Given the description of an element on the screen output the (x, y) to click on. 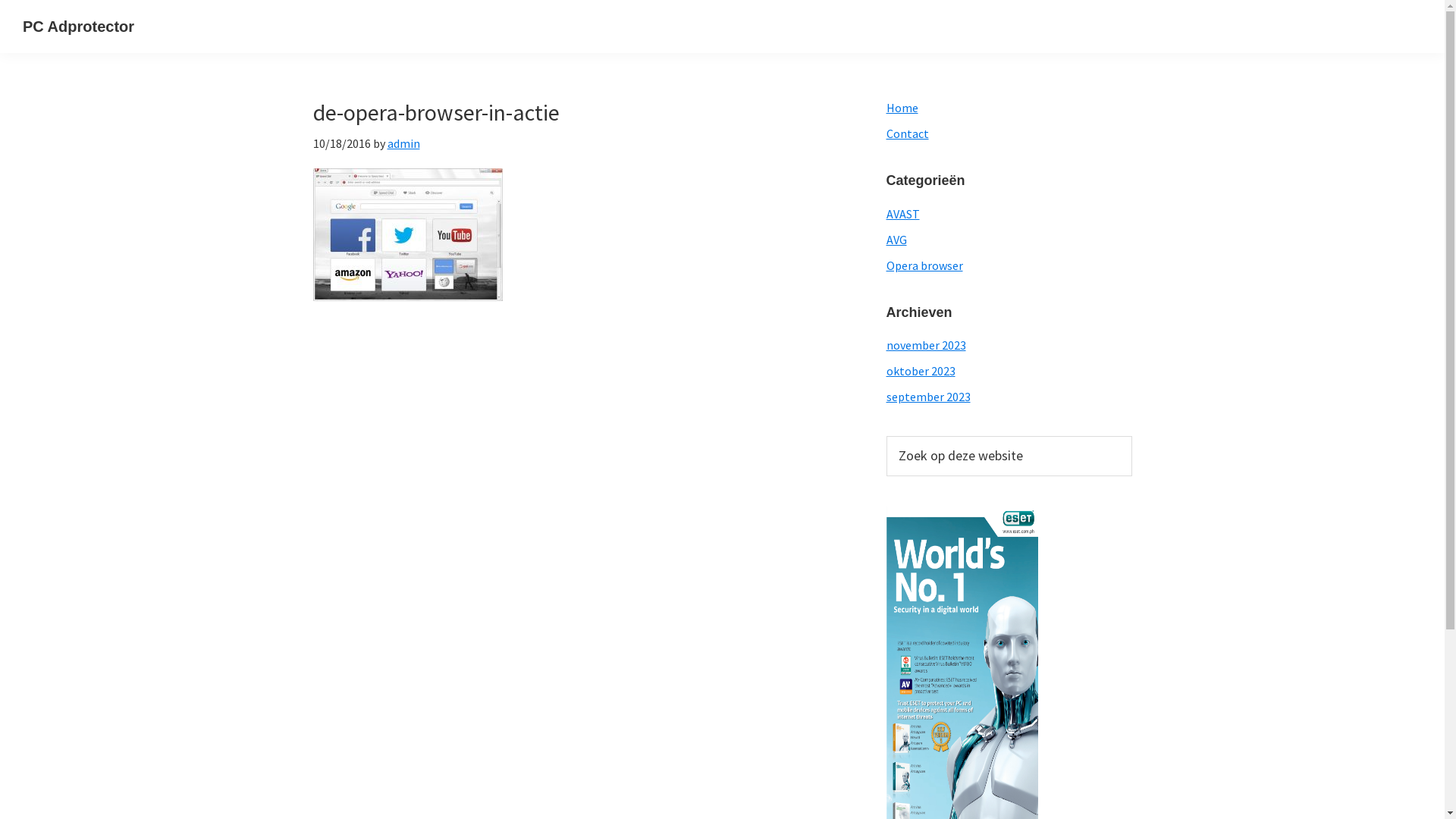
AVAST Element type: text (902, 213)
admin Element type: text (402, 142)
Opera browser Element type: text (923, 265)
september 2023 Element type: text (927, 396)
Home Element type: text (901, 107)
Contact Element type: text (906, 133)
oktober 2023 Element type: text (919, 370)
Zoek Element type: text (1131, 435)
Door naar de hoofd inhoud Element type: text (0, 0)
november 2023 Element type: text (925, 344)
PC Adprotector Element type: text (78, 26)
AVG Element type: text (895, 239)
